Given the description of an element on the screen output the (x, y) to click on. 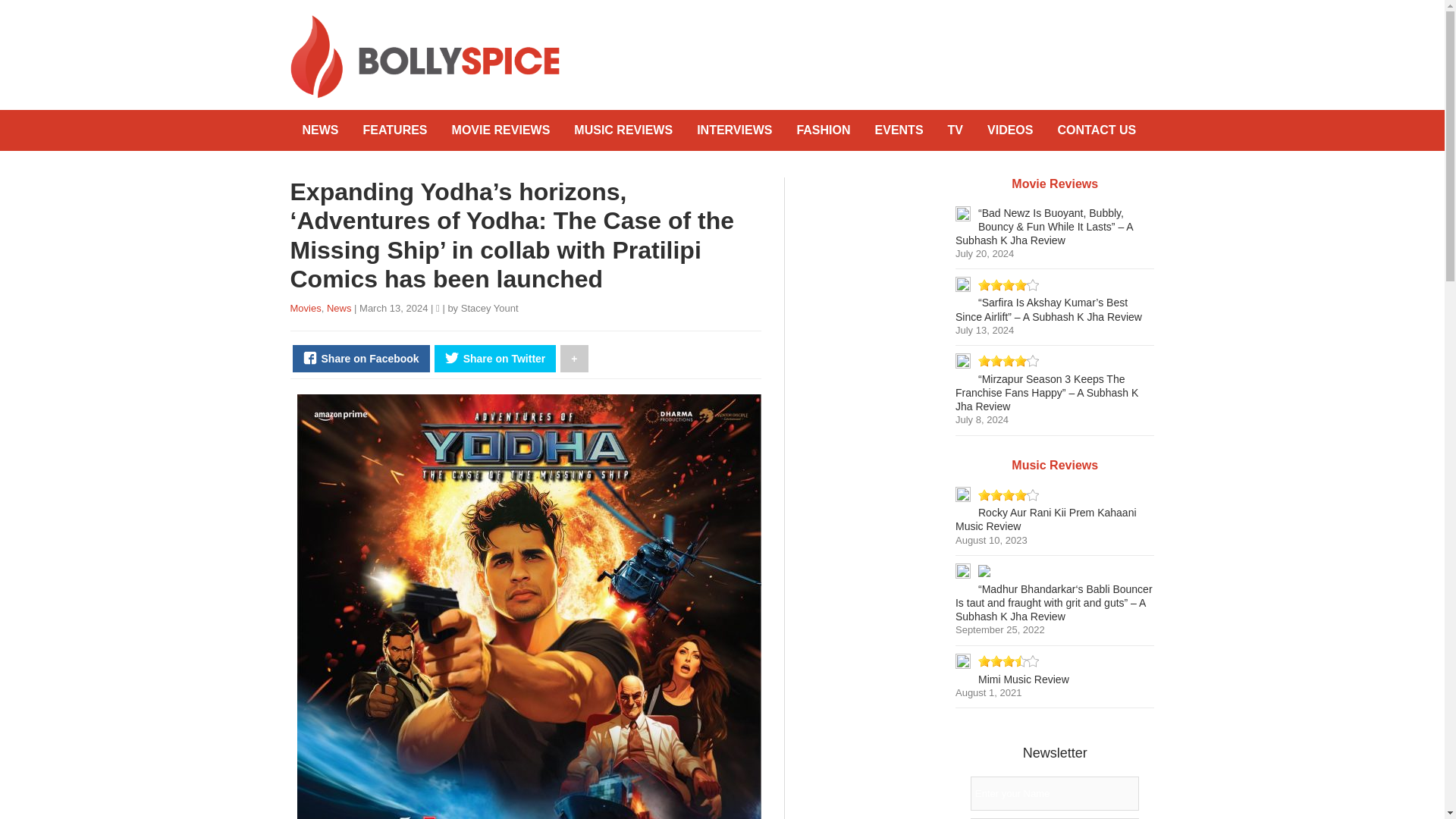
MOVIE REVIEWS (500, 130)
August 10, 2023 (991, 540)
March 13, 2024 (394, 307)
VIDEOS (1010, 130)
July 13, 2024 (984, 329)
July 8, 2024 (982, 419)
FASHION (822, 130)
FEATURES (394, 130)
TV (955, 130)
EVENTS (899, 130)
Stacey Yount (489, 307)
MUSIC REVIEWS (623, 130)
Rocky Aur Rani Kii Prem Kahaani Music Review (1046, 519)
July 20, 2024 (984, 253)
NEWS (319, 130)
